Given the description of an element on the screen output the (x, y) to click on. 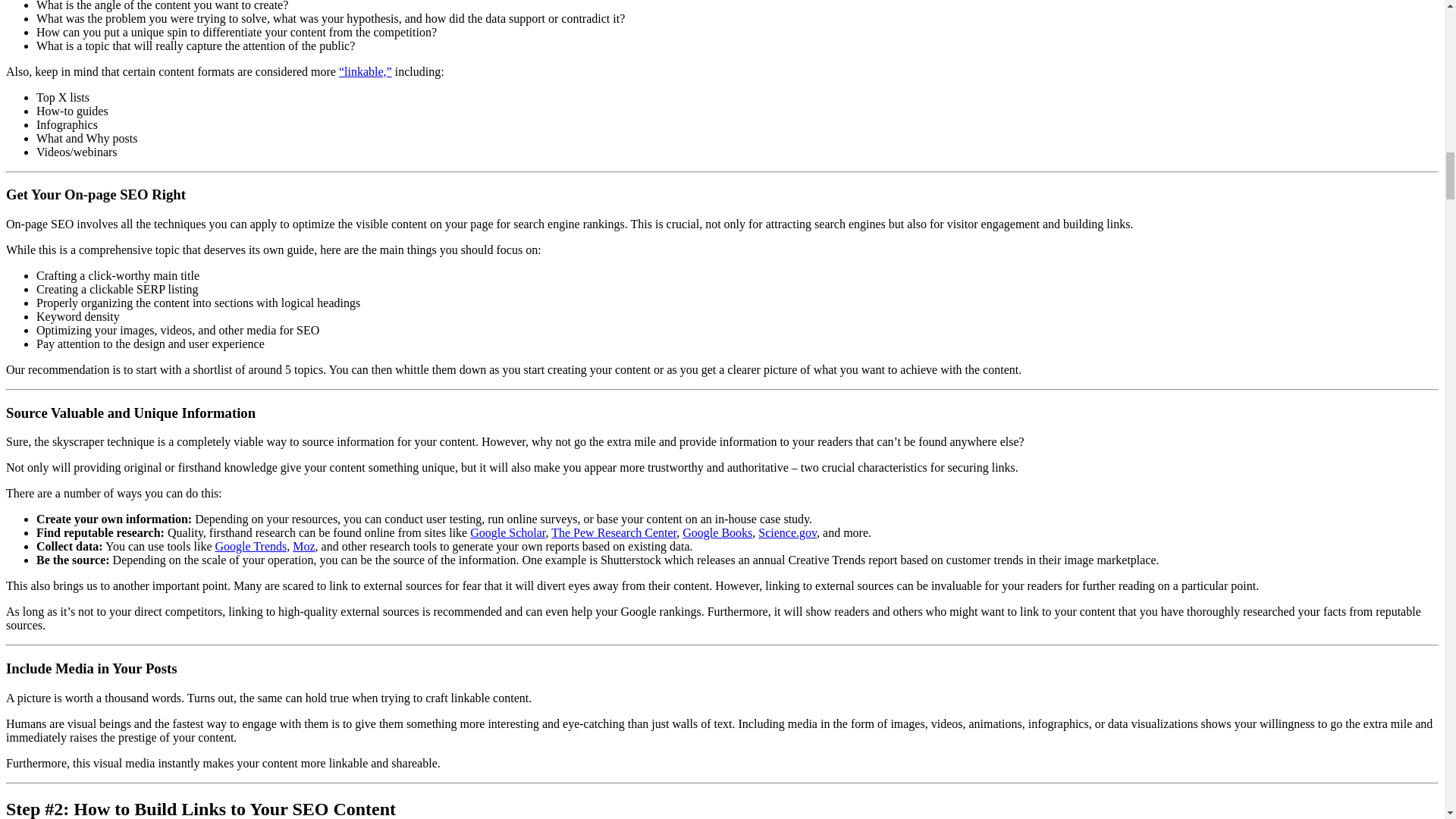
Google Trends (250, 545)
The Pew Research Center (614, 532)
Moz (303, 545)
Google Scholar (507, 532)
Science.gov (787, 532)
Google Books (717, 532)
